Given the description of an element on the screen output the (x, y) to click on. 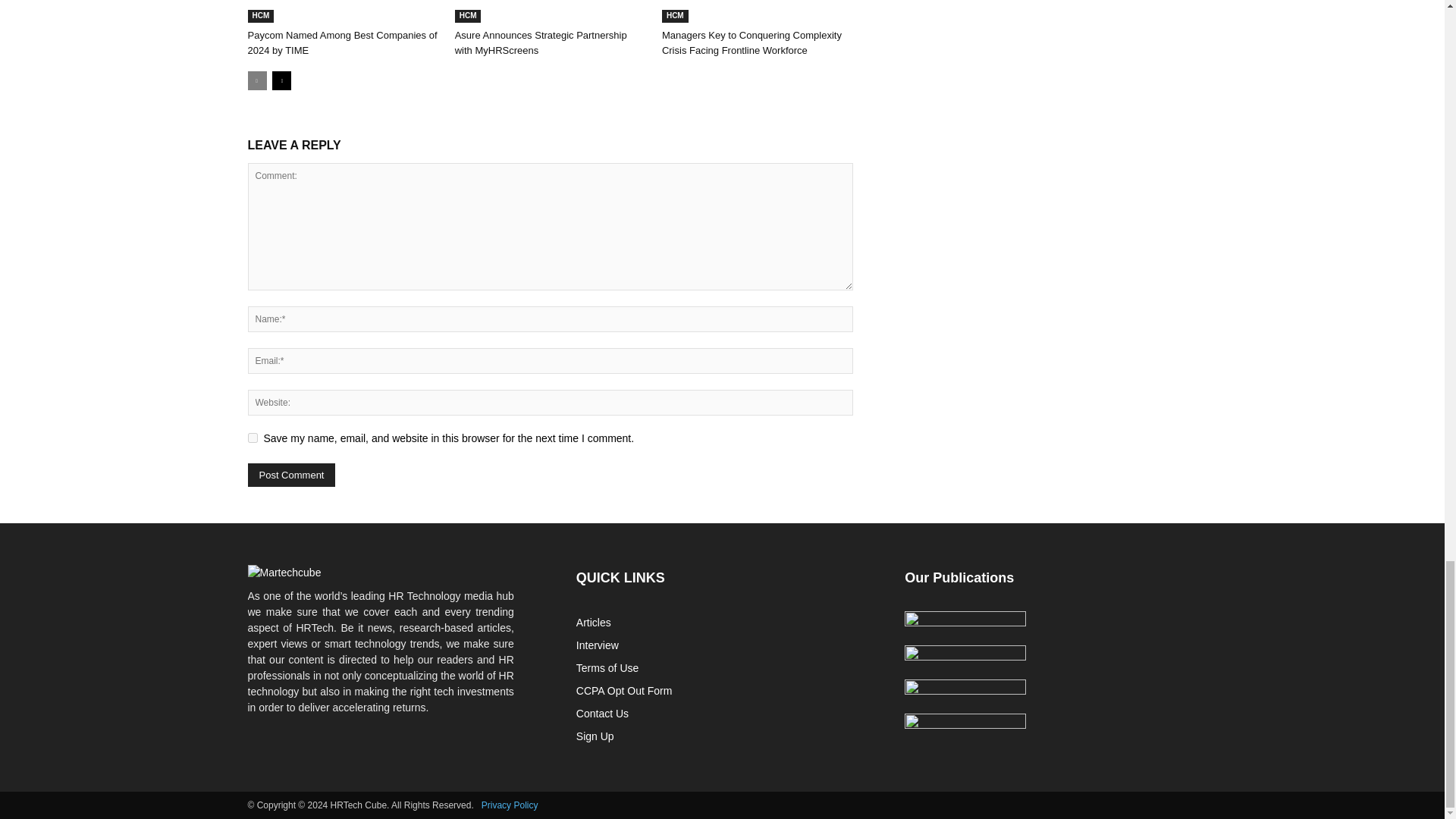
Post Comment (290, 474)
yes (252, 438)
